Given the description of an element on the screen output the (x, y) to click on. 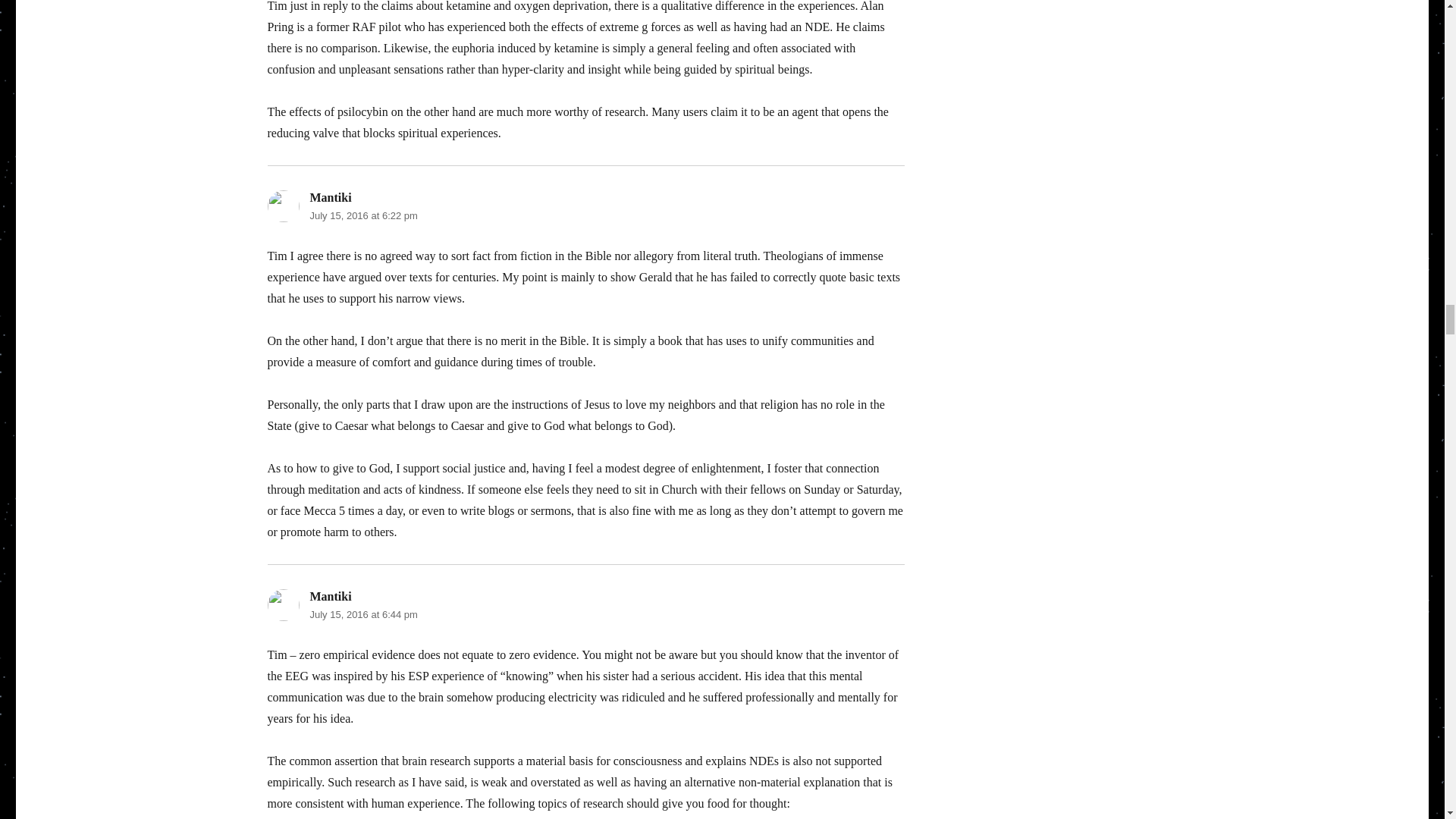
July 15, 2016 at 6:44 pm (362, 614)
July 15, 2016 at 6:22 pm (362, 215)
